Given the description of an element on the screen output the (x, y) to click on. 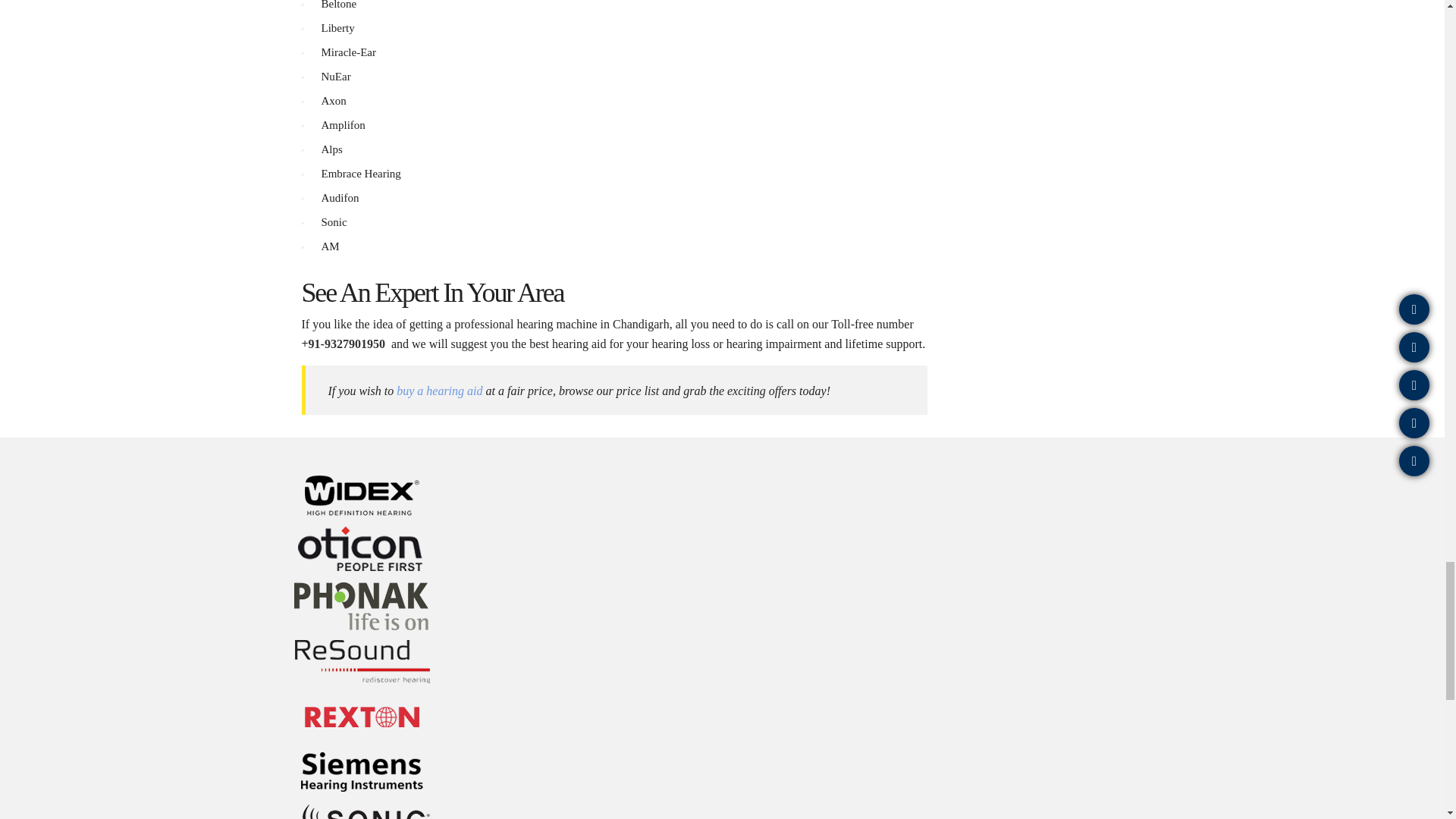
sonic (362, 809)
resound-logo (362, 661)
phonak (362, 605)
simens (362, 772)
widex (362, 495)
rexton (362, 716)
oticon-logo (362, 550)
